Given the description of an element on the screen output the (x, y) to click on. 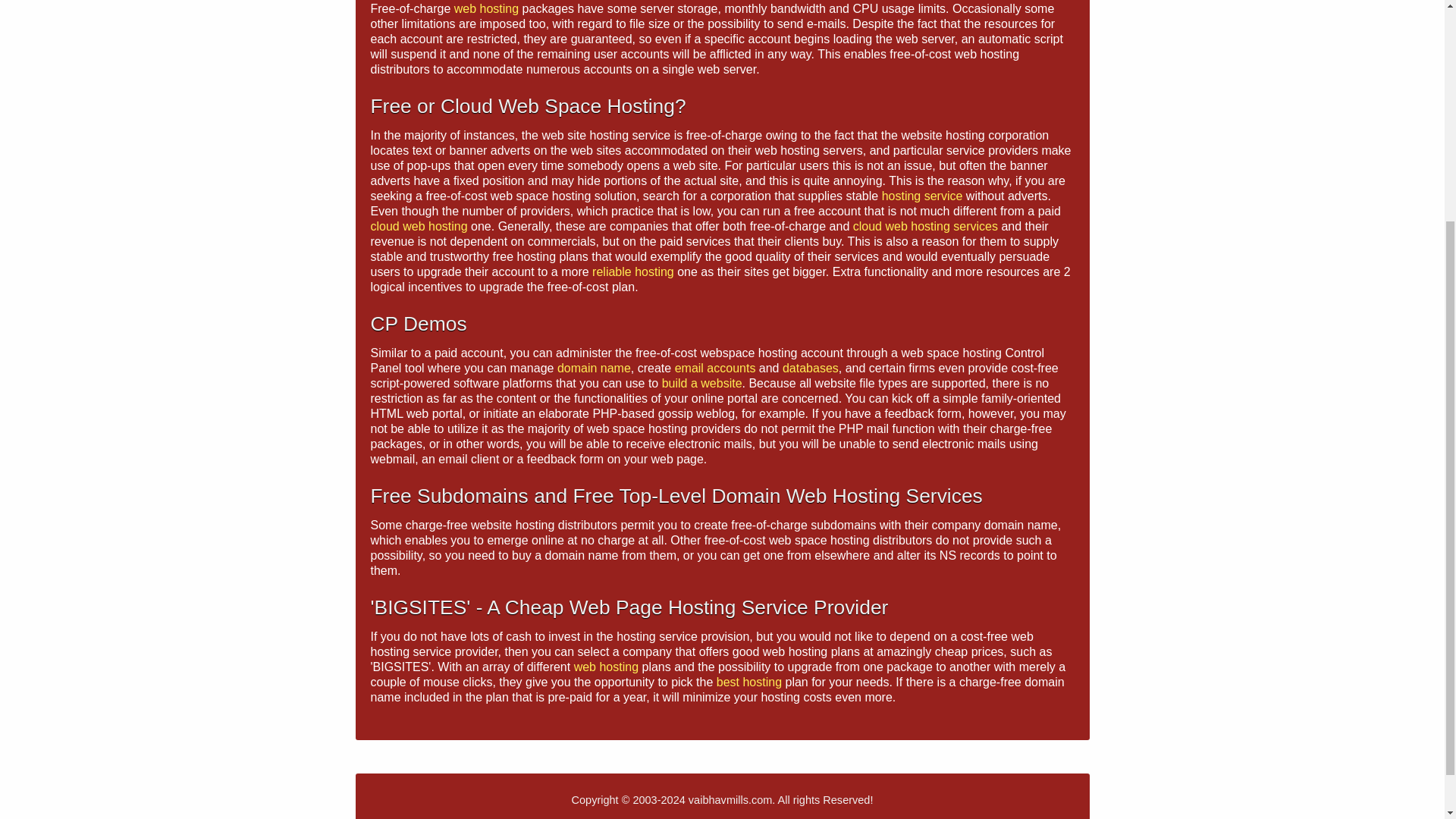
cloud web hosting services (925, 226)
reliable hosting (633, 271)
databases (810, 367)
web hosting (606, 666)
email accounts (715, 367)
build a website (702, 382)
hosting service (922, 195)
web hosting (486, 8)
cloud web hosting (418, 226)
domain name (593, 367)
vaibhavmills.com (730, 799)
best hosting (748, 681)
